Given the description of an element on the screen output the (x, y) to click on. 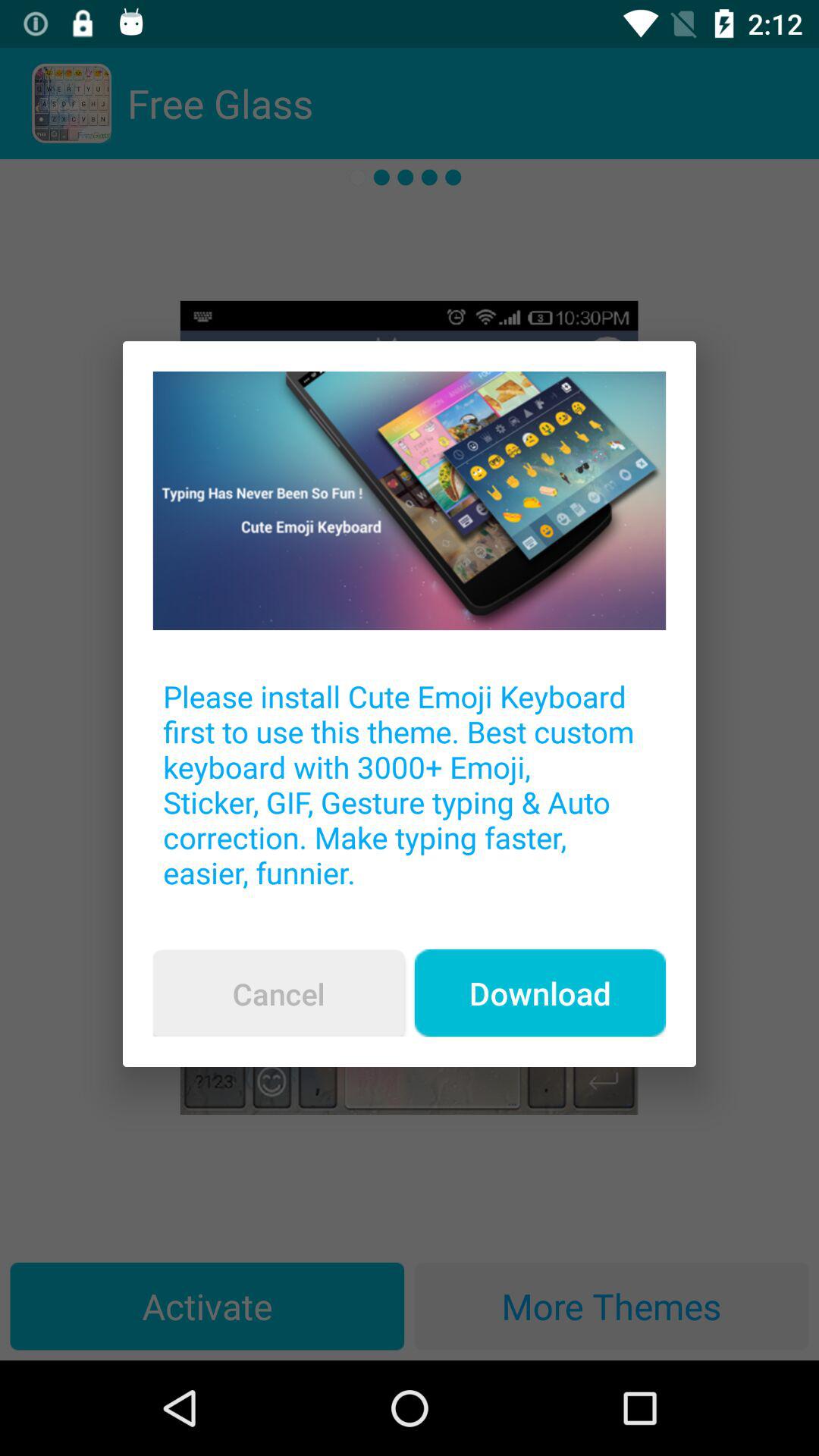
press download icon (540, 992)
